Given the description of an element on the screen output the (x, y) to click on. 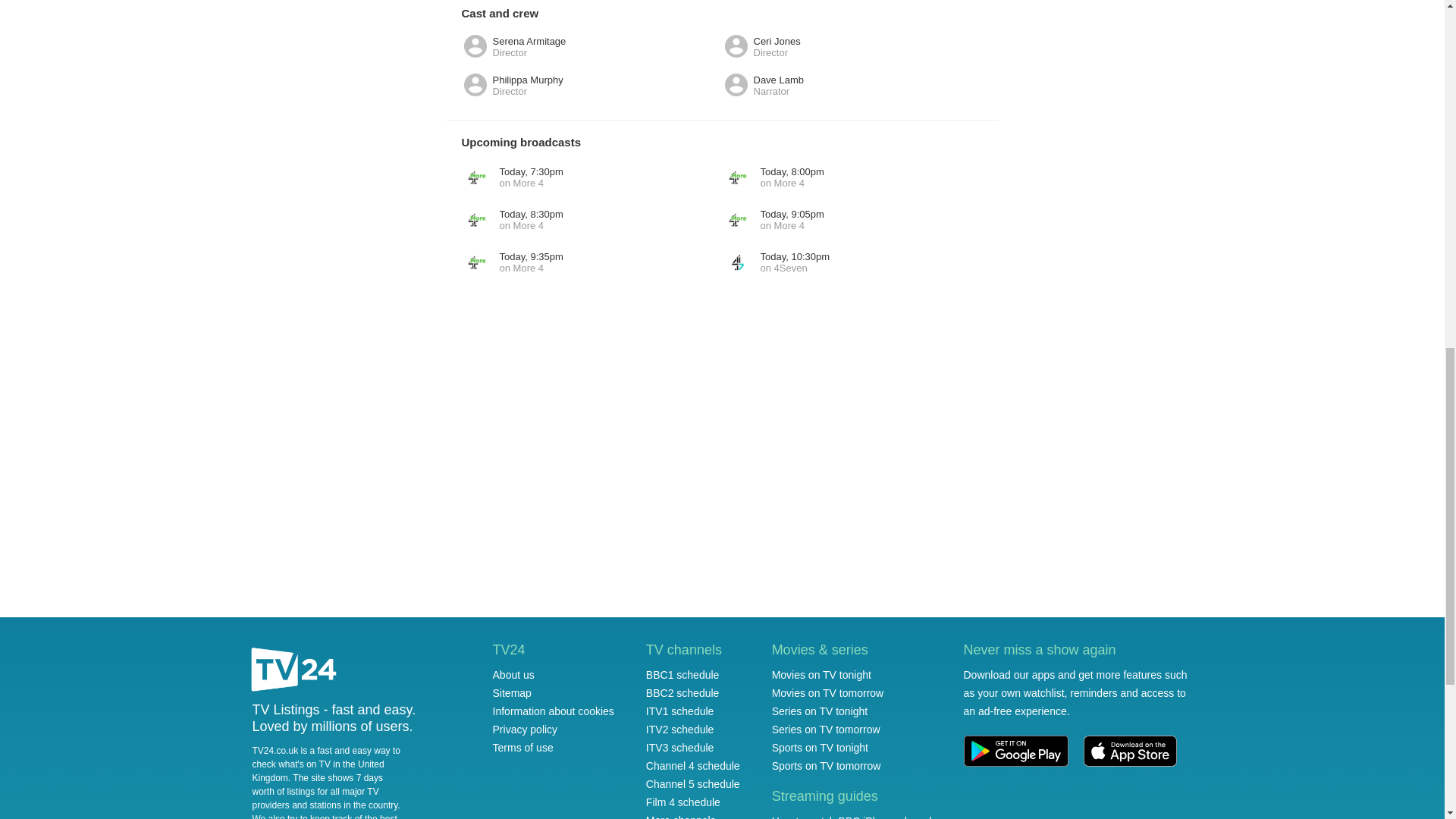
ITV3 schedule (680, 747)
the best movies on TV (511, 176)
Film 4 schedule (323, 816)
Film 4 schedule (773, 176)
Channel 5 schedule (683, 802)
Channel 4 schedule (683, 802)
Channel 4 schedule (692, 784)
BBC1 schedule (511, 219)
About us (692, 766)
ITV1 schedule (692, 766)
Terms of use (682, 674)
ITV1 schedule (513, 674)
